Given the description of an element on the screen output the (x, y) to click on. 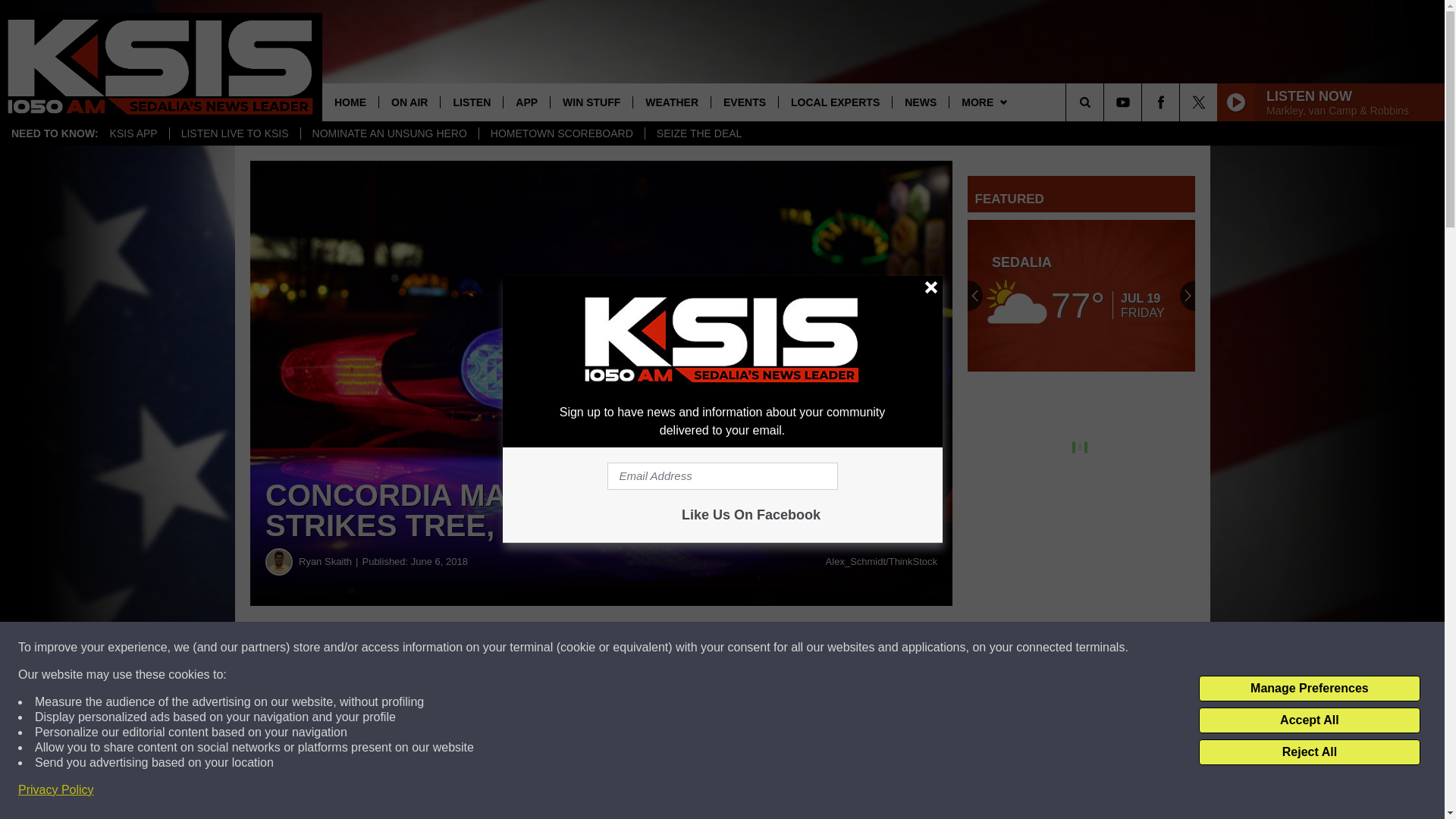
NOMINATE AN UNSUNG HERO (389, 133)
LOCAL EXPERTS (834, 102)
HOMETOWN SCOREBOARD (562, 133)
Accept All (1309, 720)
WEATHER (670, 102)
Privacy Policy (55, 789)
HOME (349, 102)
SEARCH (1106, 102)
Share on Twitter (741, 647)
SEIZE THE DEAL (699, 133)
Email Address (722, 475)
Share on Facebook (460, 647)
Sedalia Weather (1081, 295)
KSIS APP (133, 133)
WIN STUFF (590, 102)
